Given the description of an element on the screen output the (x, y) to click on. 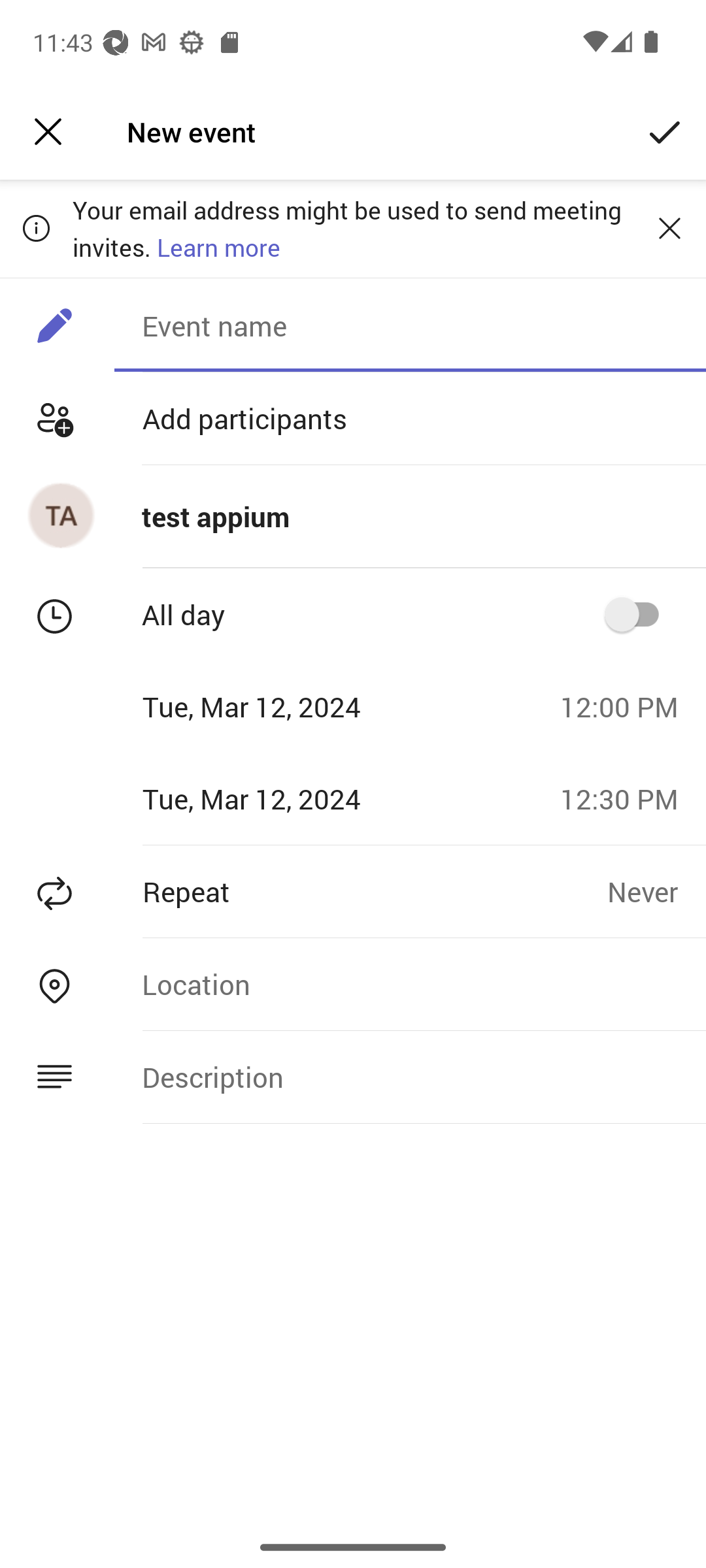
Back (48, 131)
Send invite (665, 131)
Dismiss banner (669, 228)
Event name (410, 325)
Add participants Add participants option (353, 418)
All day (638, 614)
Tue, Mar 12, 2024 Starts Tuesday Mar 12, 2024 (273, 706)
12:00 PM Start time 12:00 PM (626, 706)
Tue, Mar 12, 2024 Ends Tuesday Mar 12, 2024 (273, 798)
12:30 PM End time 12:30 PM (626, 798)
Repeat (303, 891)
Never Repeat Never (656, 891)
Location (410, 983)
Description (410, 1076)
